Given the description of an element on the screen output the (x, y) to click on. 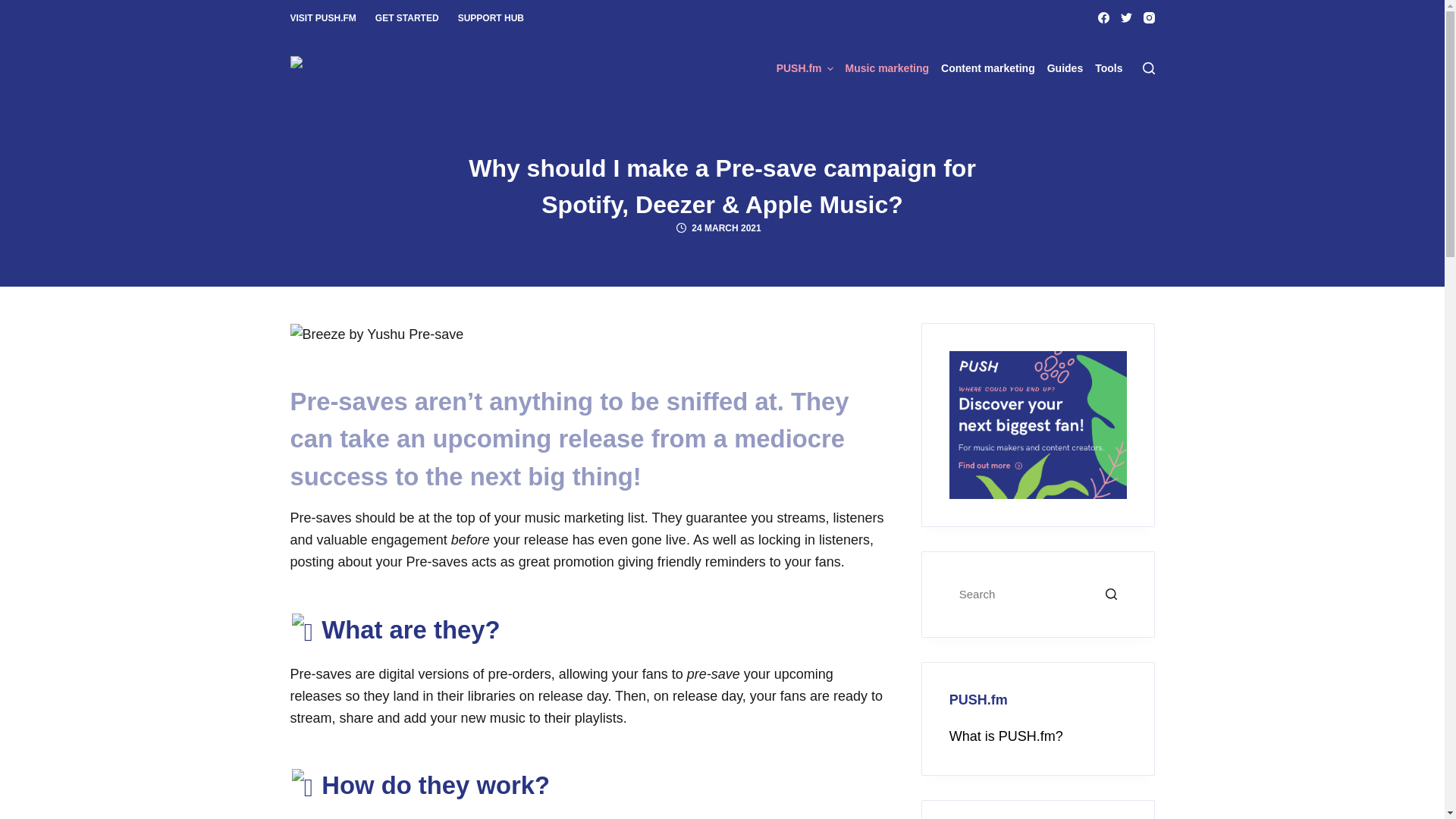
PUSH.fm (808, 67)
SUPPORT HUB (486, 18)
Music marketing (887, 67)
GET STARTED (406, 18)
Content marketing (987, 67)
Push FM - Marketing and Promotional Tools (1037, 424)
Skip to content (15, 7)
Search Input (1037, 594)
VISIT PUSH.FM (327, 18)
